Given the description of an element on the screen output the (x, y) to click on. 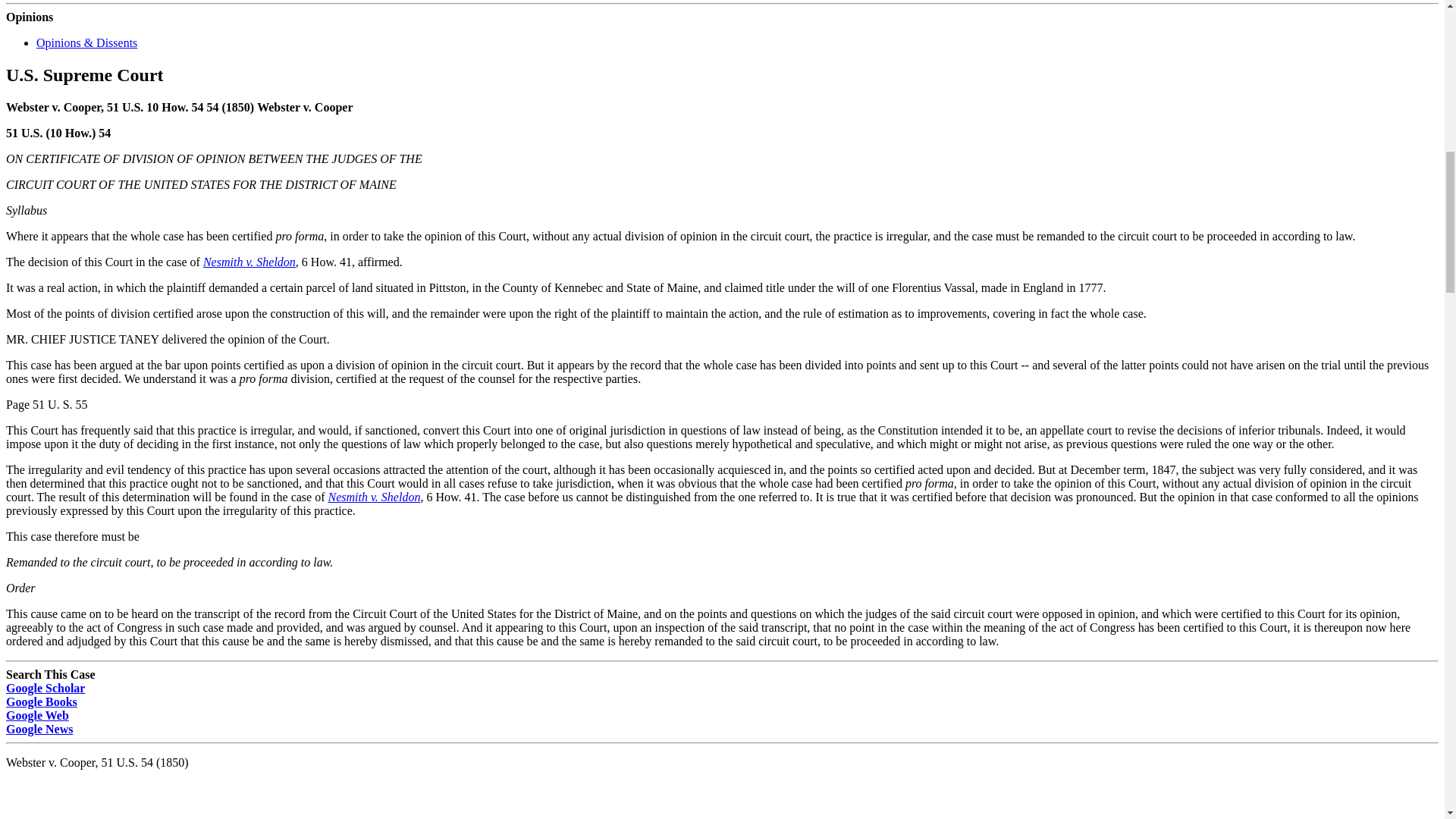
Law - Google Web (36, 714)
Law - Google Scholar (44, 686)
Page 51 U. S. 55 (46, 403)
Law - Google Books (41, 700)
Nesmith v. Sheldon (373, 495)
Nesmith v. Sheldon (249, 260)
Law - Google News (38, 727)
